Given the description of an element on the screen output the (x, y) to click on. 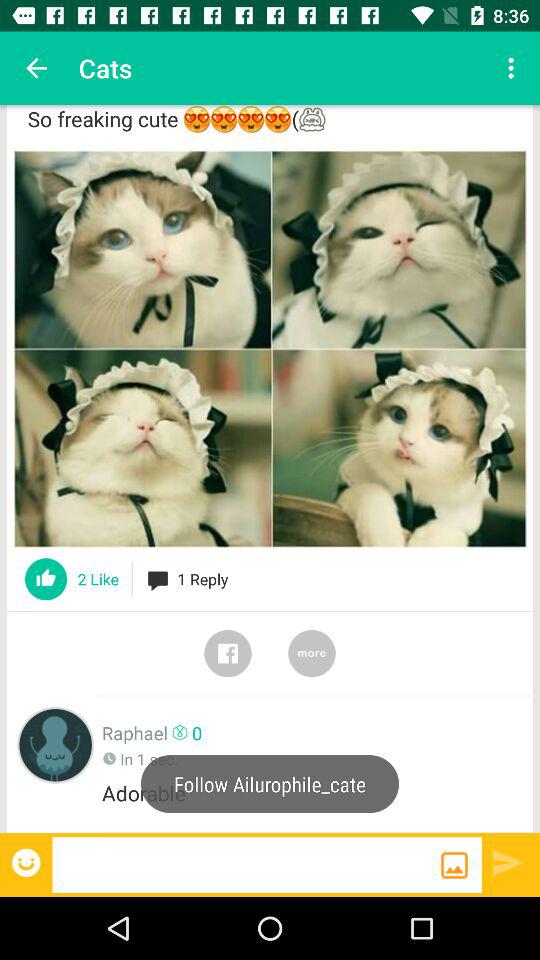
add image to chat (454, 865)
